Given the description of an element on the screen output the (x, y) to click on. 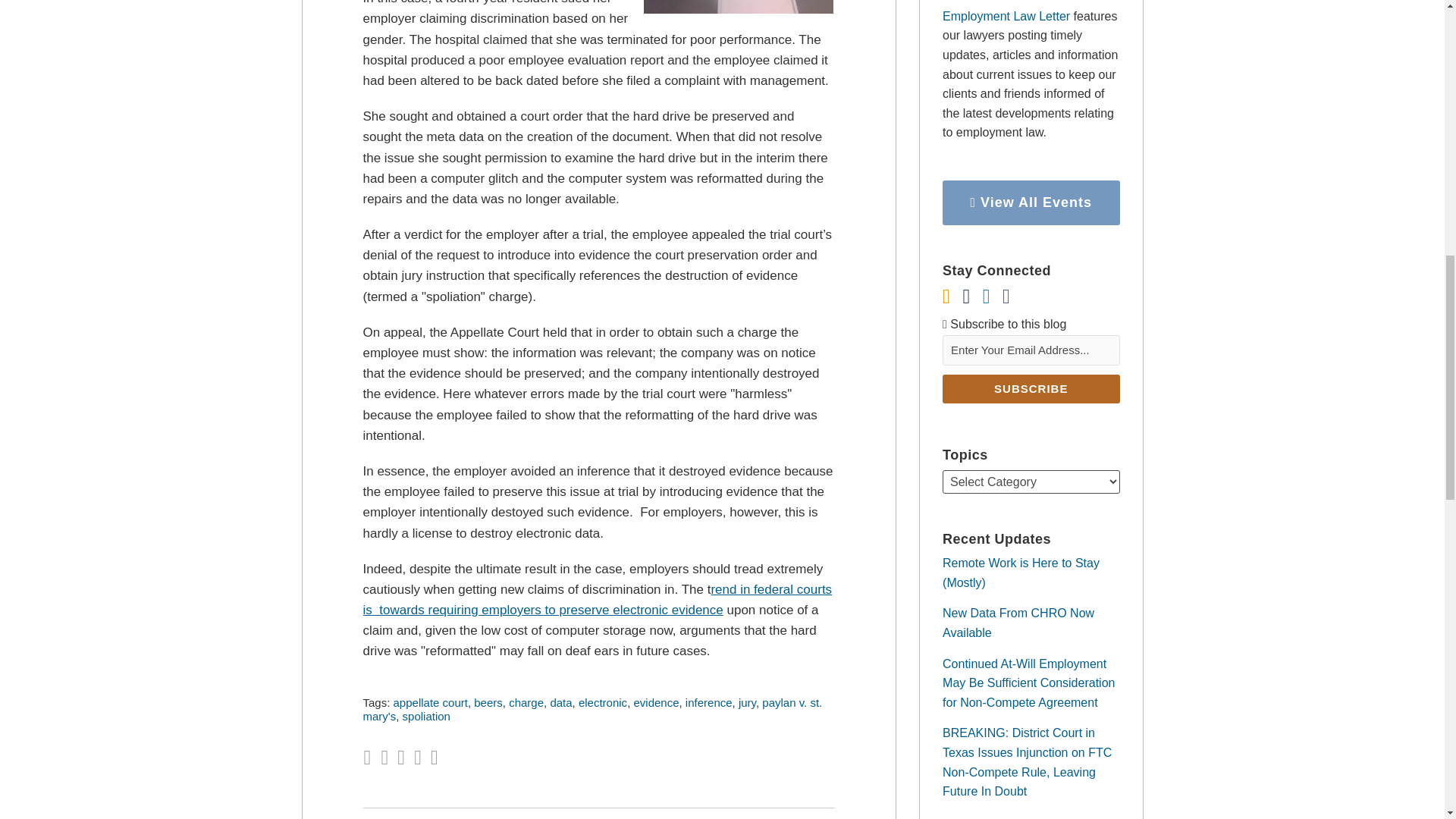
jury (746, 702)
spoliation (426, 716)
electronic (602, 702)
paylan v. st. mary's (592, 709)
charge (525, 702)
beers (488, 702)
evidence (655, 702)
appellate court (430, 702)
inference (708, 702)
data (561, 702)
Subscribe (1030, 388)
